Given the description of an element on the screen output the (x, y) to click on. 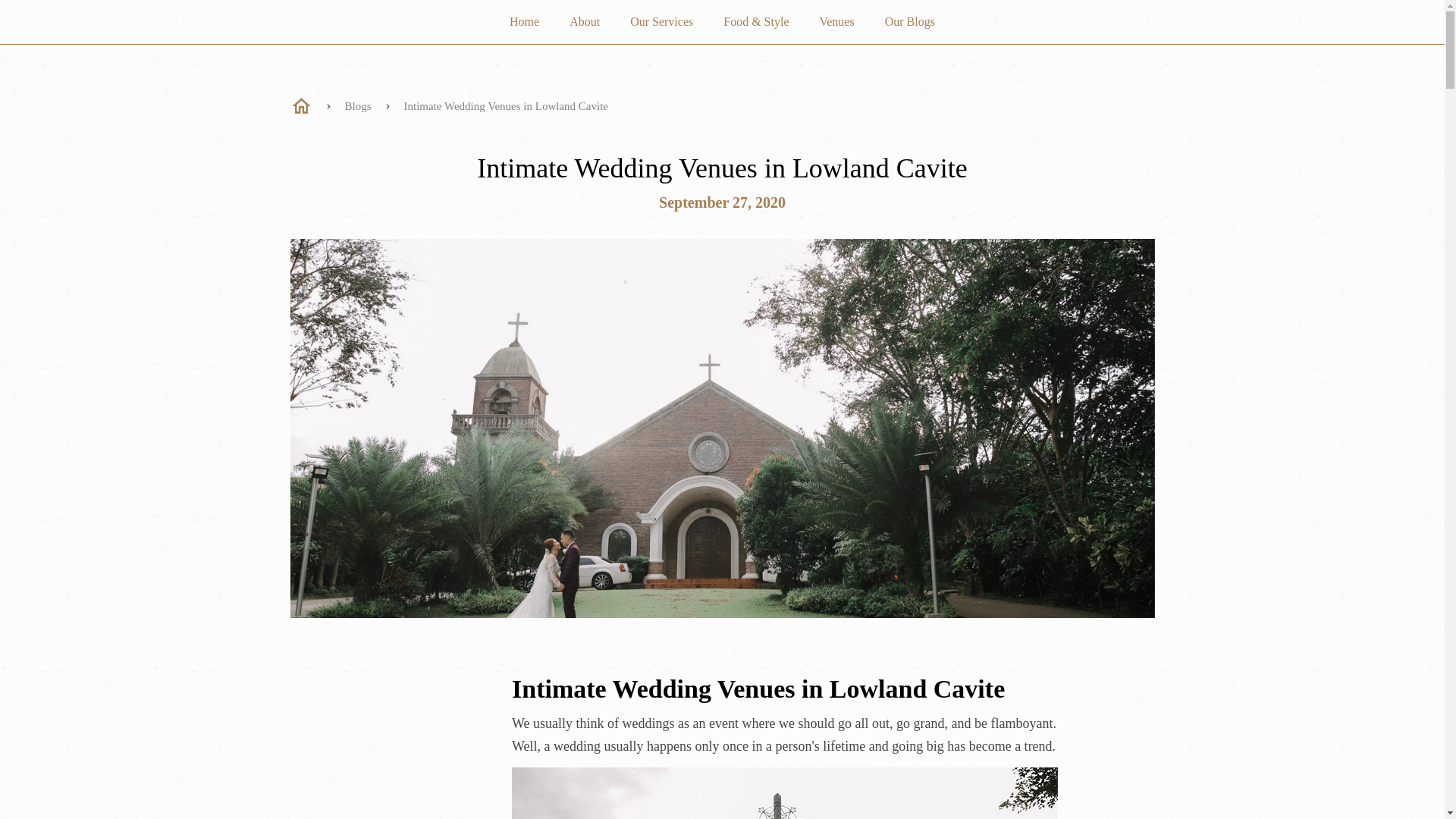
Blogs (357, 105)
Our Blogs (909, 22)
Our Services (661, 22)
